Given the description of an element on the screen output the (x, y) to click on. 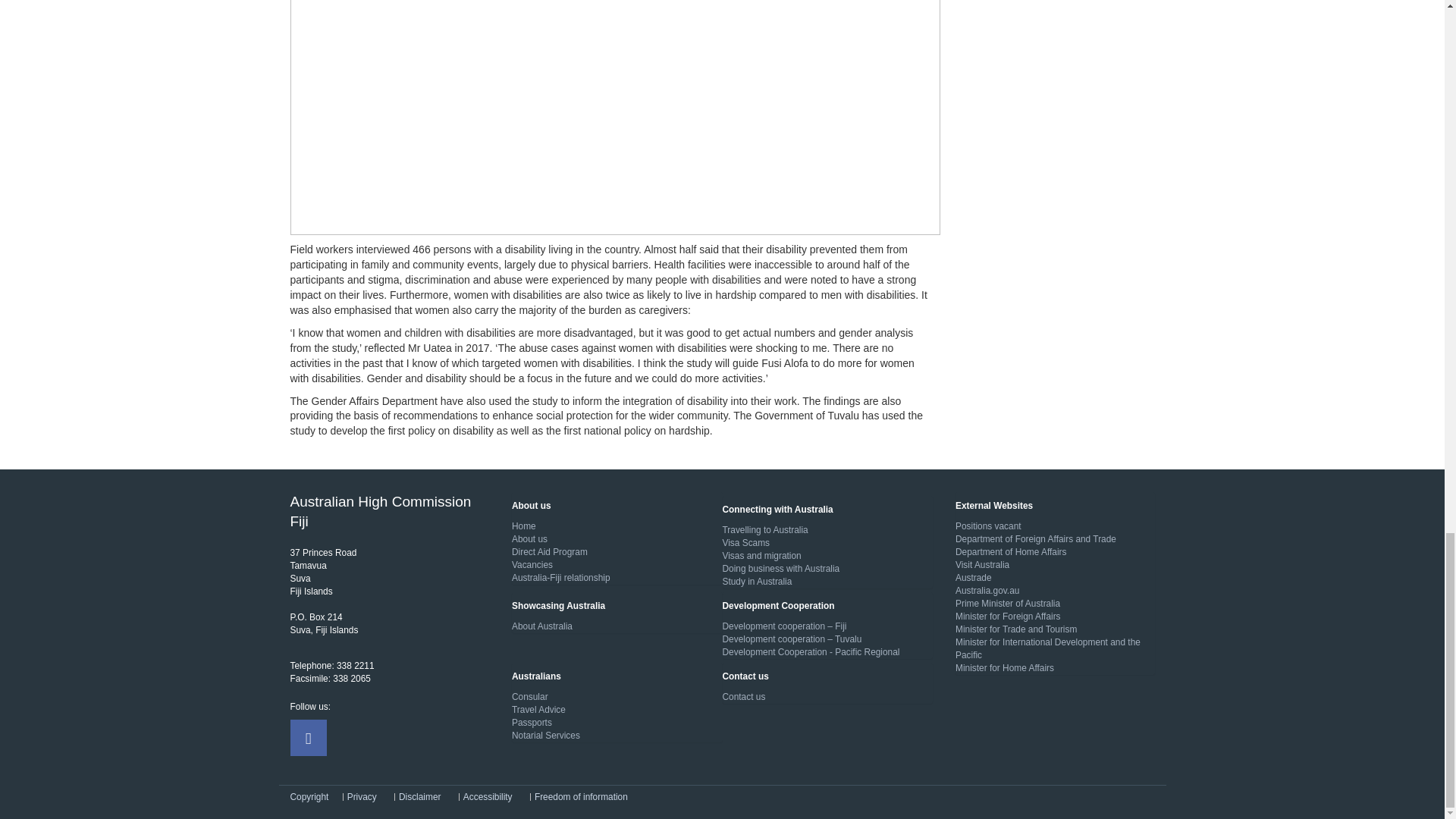
Telephone: 338 2211 (331, 665)
